Given the description of an element on the screen output the (x, y) to click on. 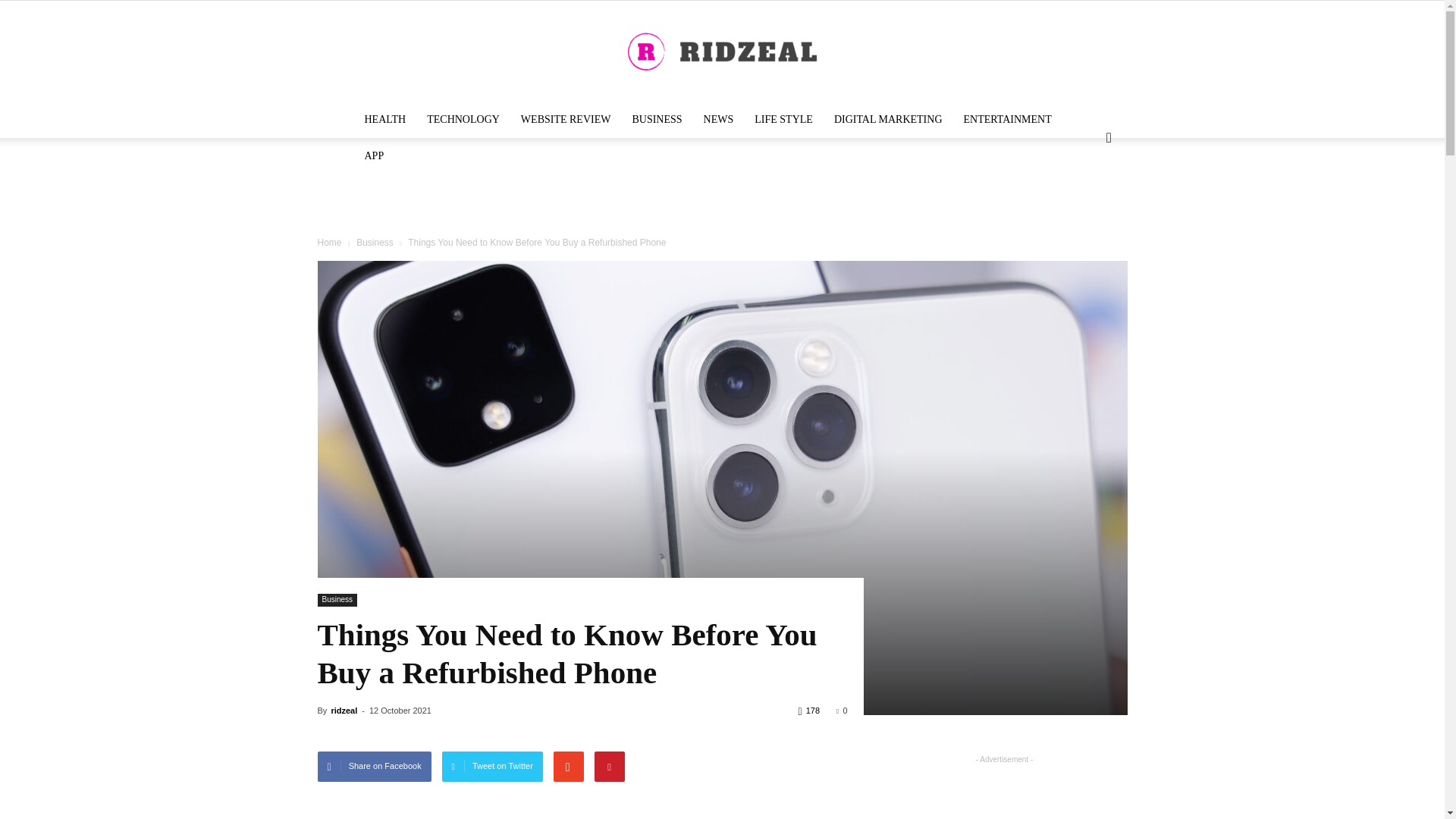
Business (336, 599)
Advertisement (721, 190)
HEALTH (384, 119)
BUSINESS (657, 119)
0 (841, 709)
LIFE STYLE (784, 119)
NEWS (718, 119)
Tweet on Twitter (492, 766)
Advertisement (580, 808)
Home (328, 242)
Share on Facebook (373, 766)
WEBSITE REVIEW (566, 119)
DIGITAL MARKETING (888, 119)
TECHNOLOGY (463, 119)
